Given the description of an element on the screen output the (x, y) to click on. 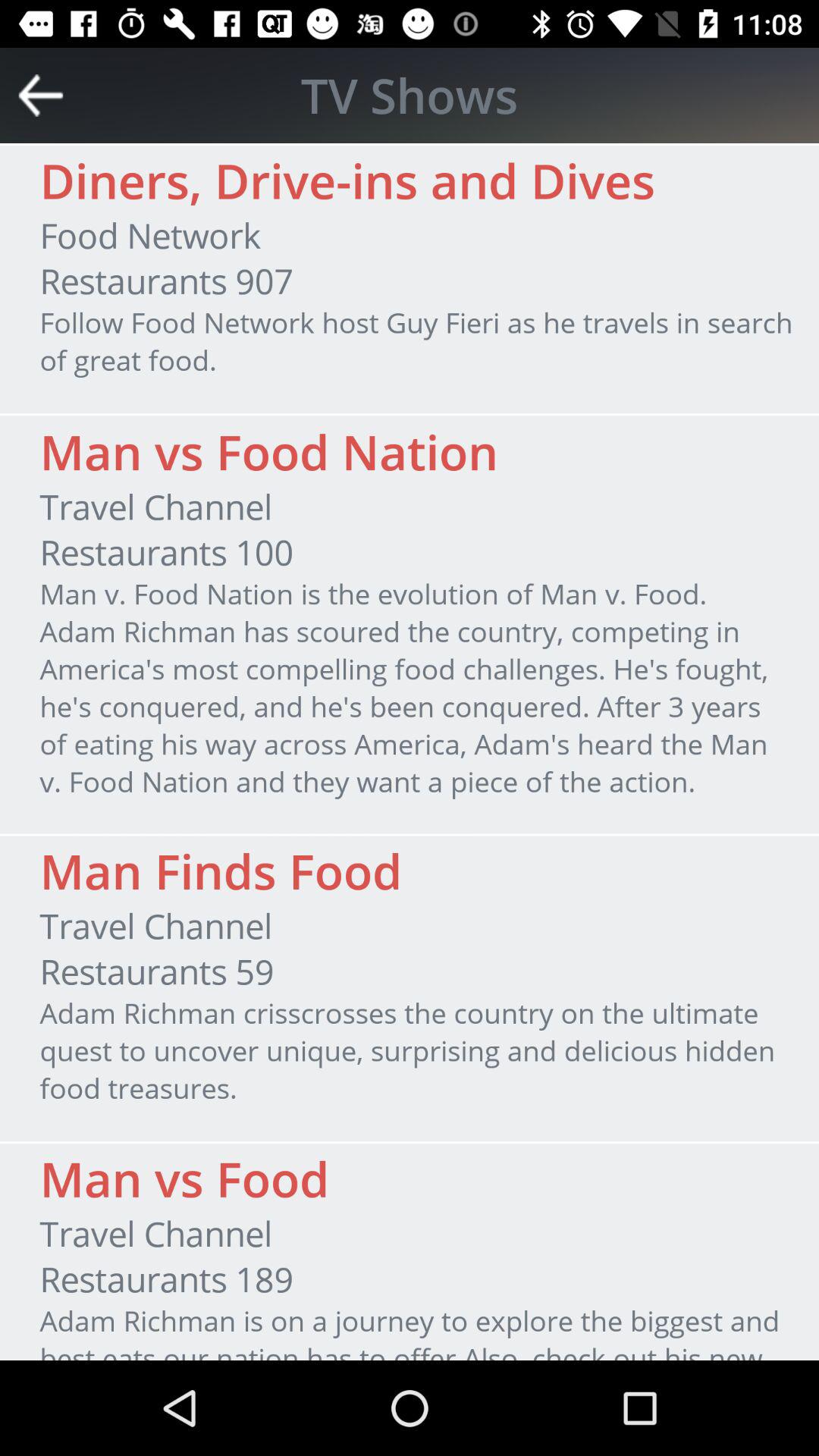
turn off item above the diners drive ins icon (41, 95)
